Given the description of an element on the screen output the (x, y) to click on. 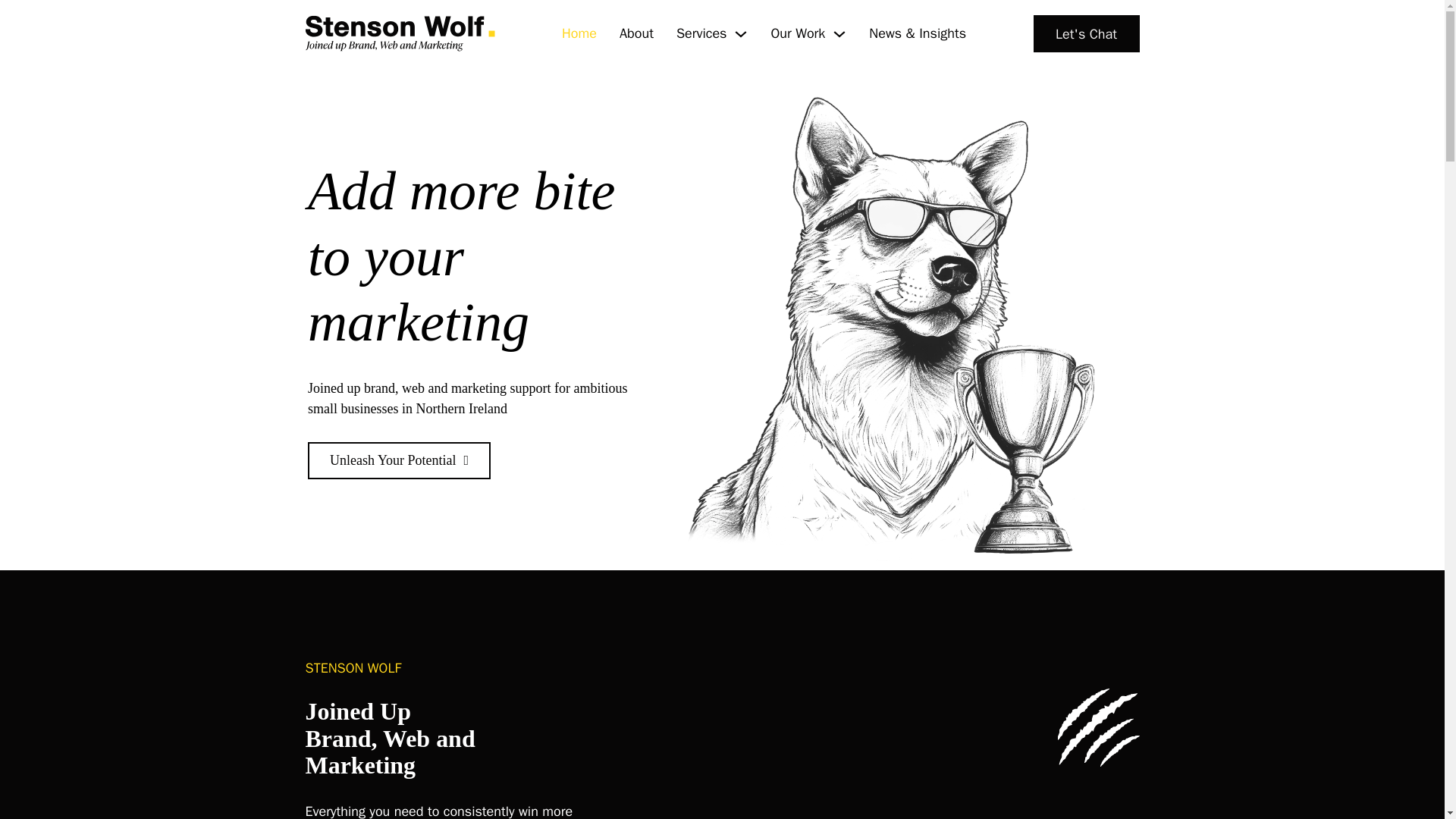
About (636, 33)
Home (579, 33)
Let's Chat (1085, 33)
Unleash Your Potential (398, 460)
